Given the description of an element on the screen output the (x, y) to click on. 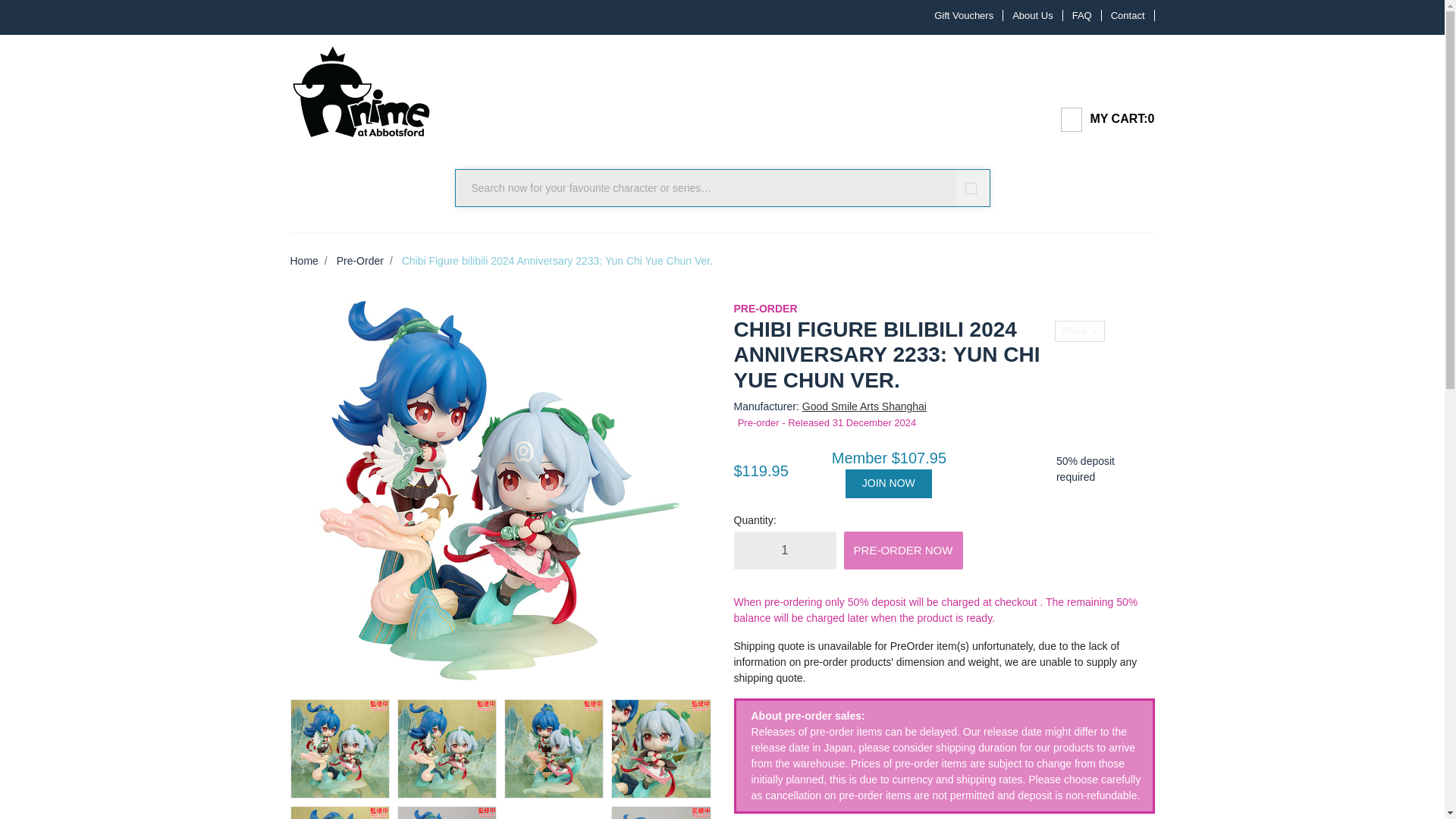
Gift Vouchers (963, 15)
FAQ (1082, 15)
Anime At Abbotsford (359, 86)
MY CART:0 (1101, 118)
1 (784, 550)
About Us (1032, 15)
Contact (1128, 15)
